Given the description of an element on the screen output the (x, y) to click on. 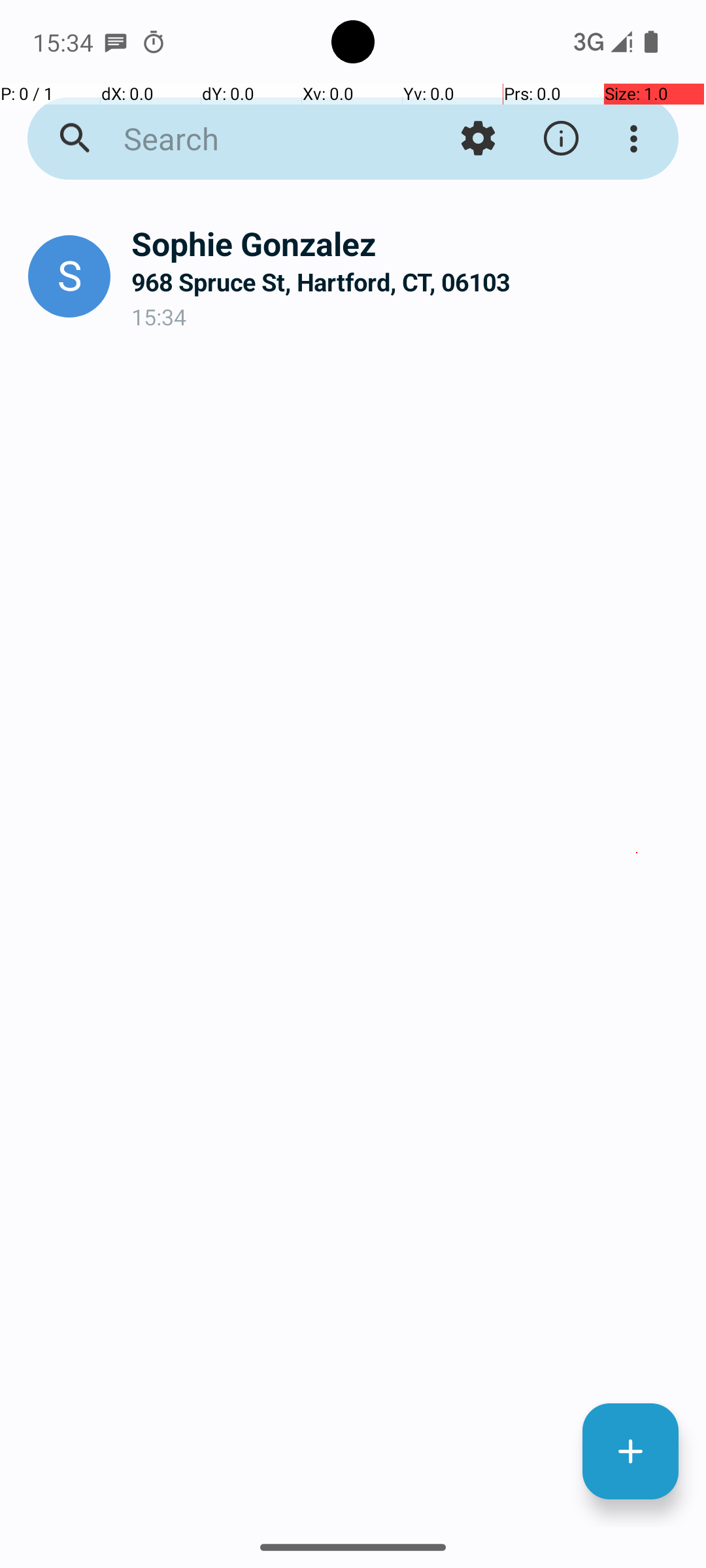
Sophie Gonzalez Element type: android.widget.TextView (408, 242)
968 Spruce St, Hartford, CT, 06103 Element type: android.widget.TextView (408, 281)
